Given the description of an element on the screen output the (x, y) to click on. 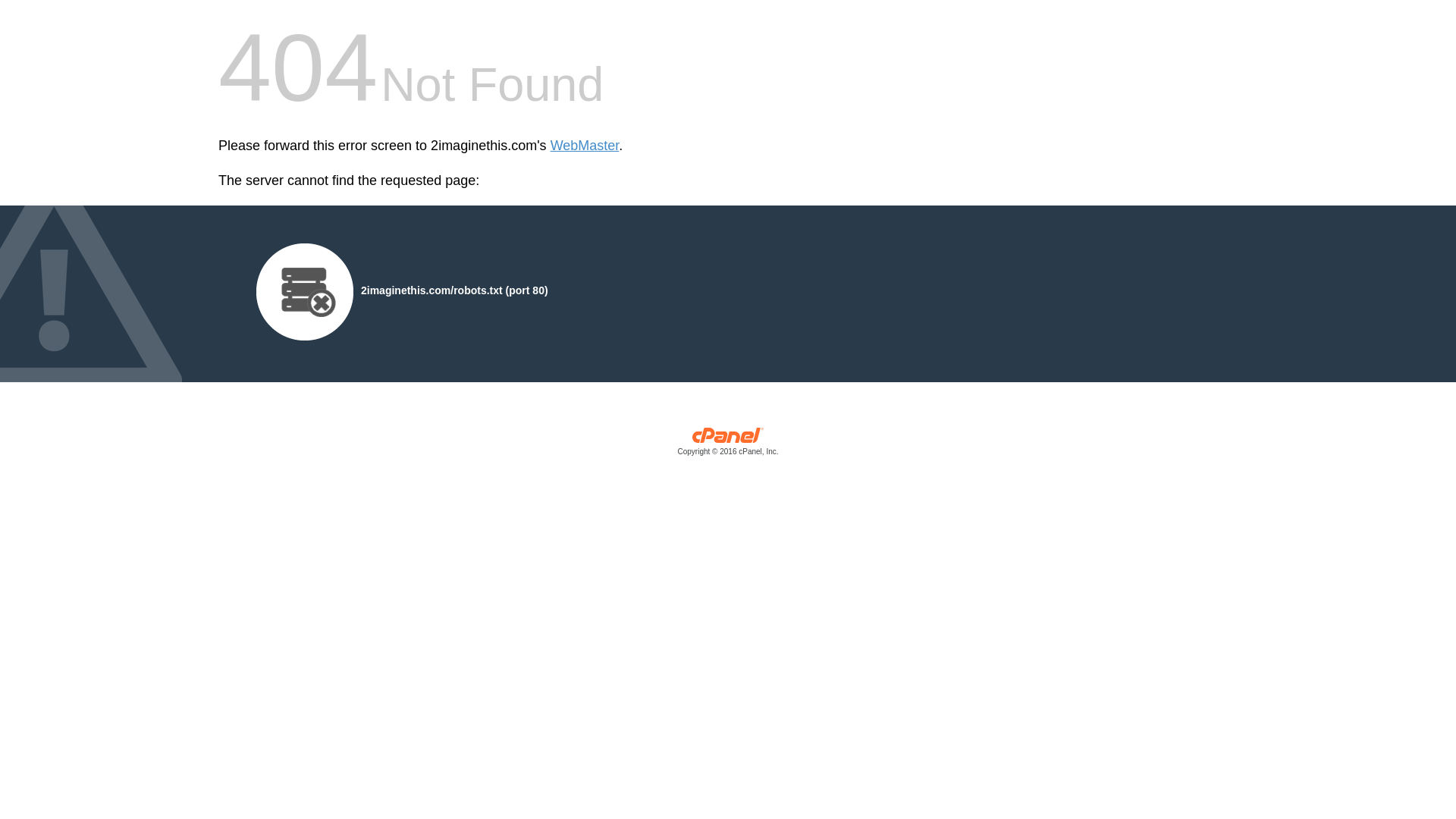
WebMaster Element type: text (584, 145)
